Given the description of an element on the screen output the (x, y) to click on. 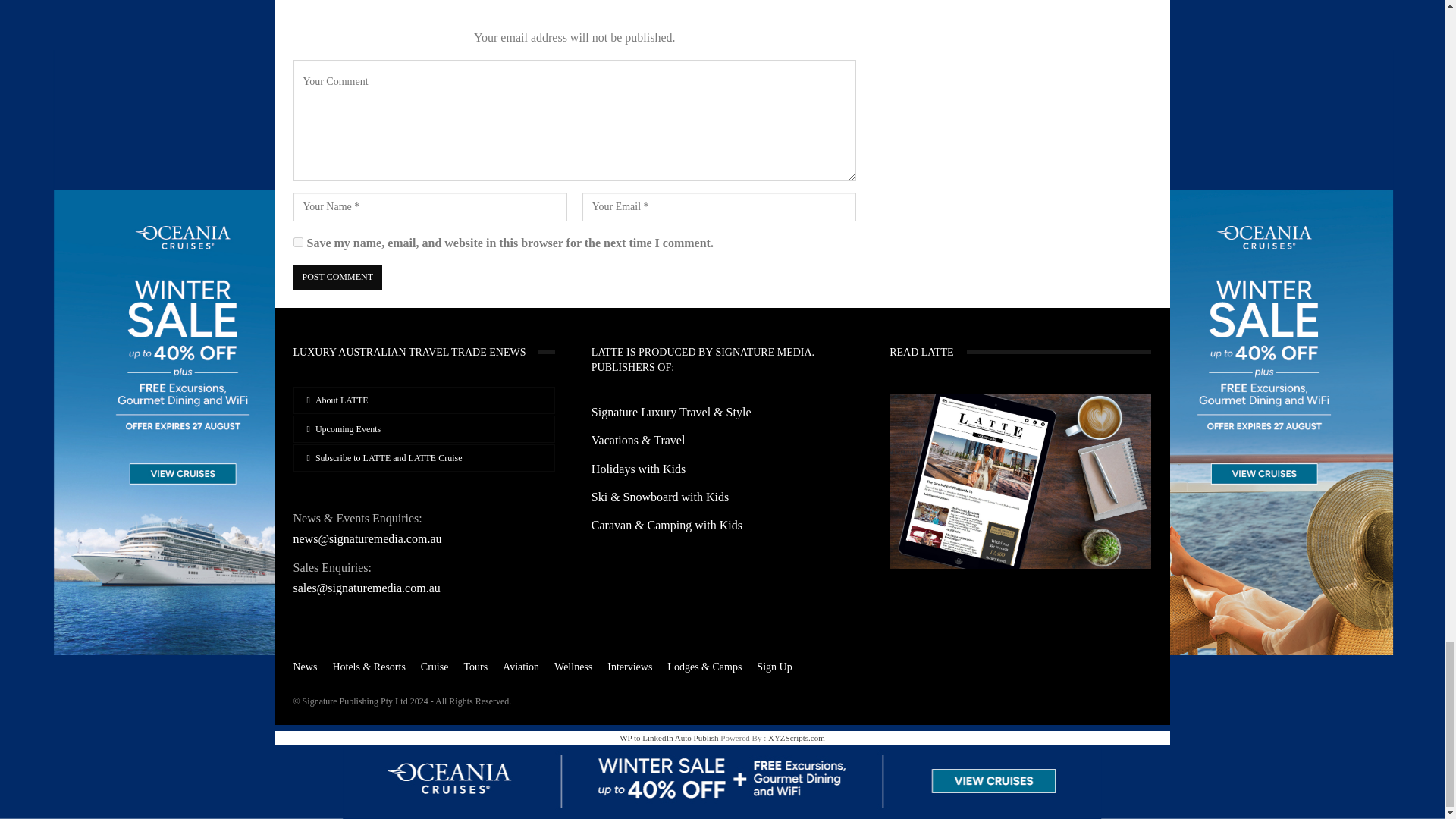
yes (297, 242)
Post Comment (336, 276)
